Given the description of an element on the screen output the (x, y) to click on. 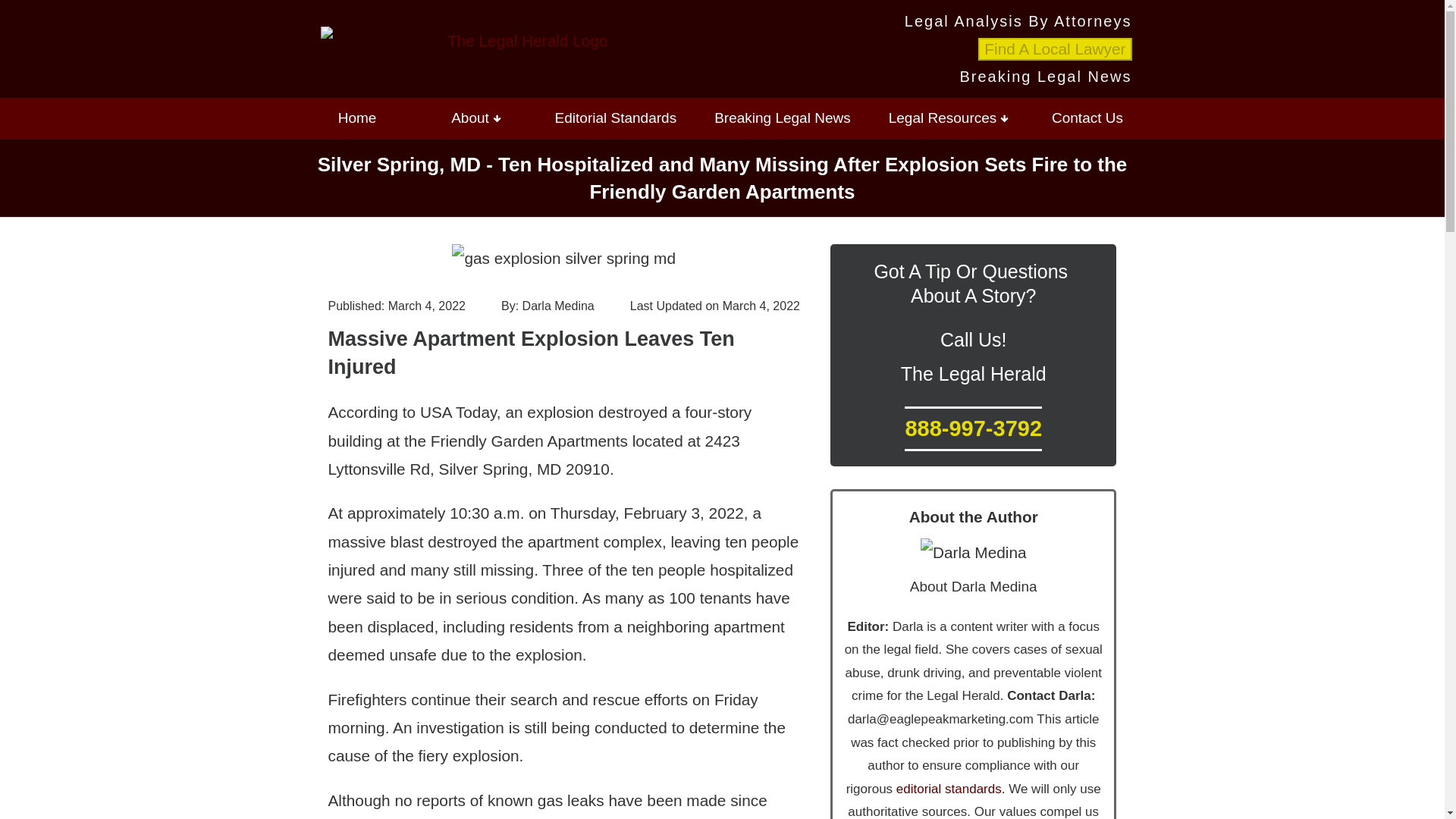
editorial standards. (948, 789)
About (476, 117)
888-997-3792 (973, 428)
Contact Us (1086, 117)
Home (356, 117)
Legal Resources (948, 117)
Find A Local Lawyer (1054, 48)
Breaking Legal News (782, 117)
Editorial Standards (615, 117)
